Given the description of an element on the screen output the (x, y) to click on. 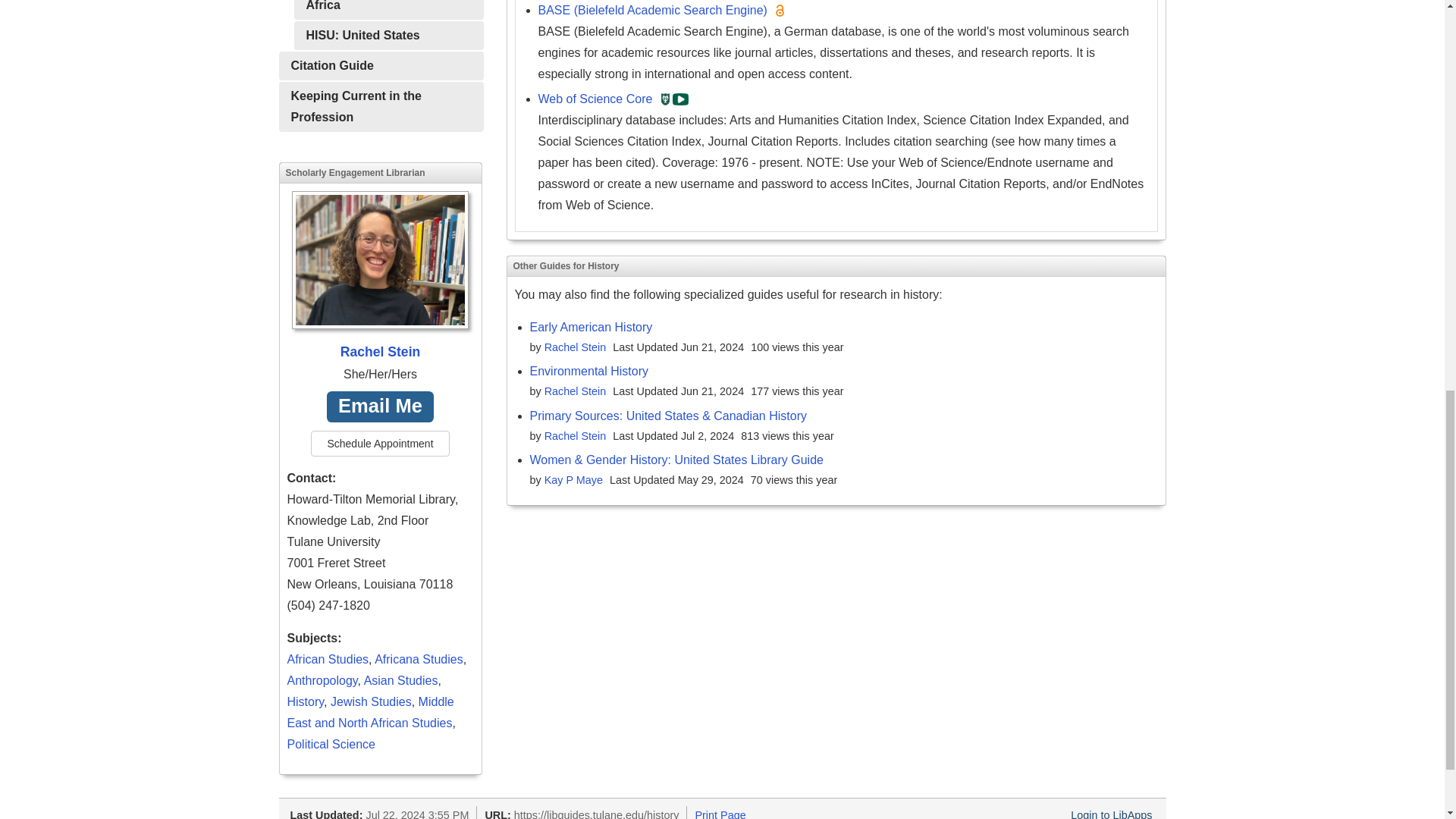
Jewish Studies (371, 701)
HISU: United States (388, 35)
Email Me (379, 406)
Citation Guide (381, 65)
History (304, 701)
Schedule Appointment (379, 443)
Africana Studies (418, 658)
African Studies (327, 658)
Anthropology (321, 680)
Asian Studies (401, 680)
Keeping Current in the Profession (381, 106)
Political Science (330, 744)
Middle East and North African Studies (369, 712)
Rachel Stein (379, 276)
Resources for citing your sources. (381, 65)
